Given the description of an element on the screen output the (x, y) to click on. 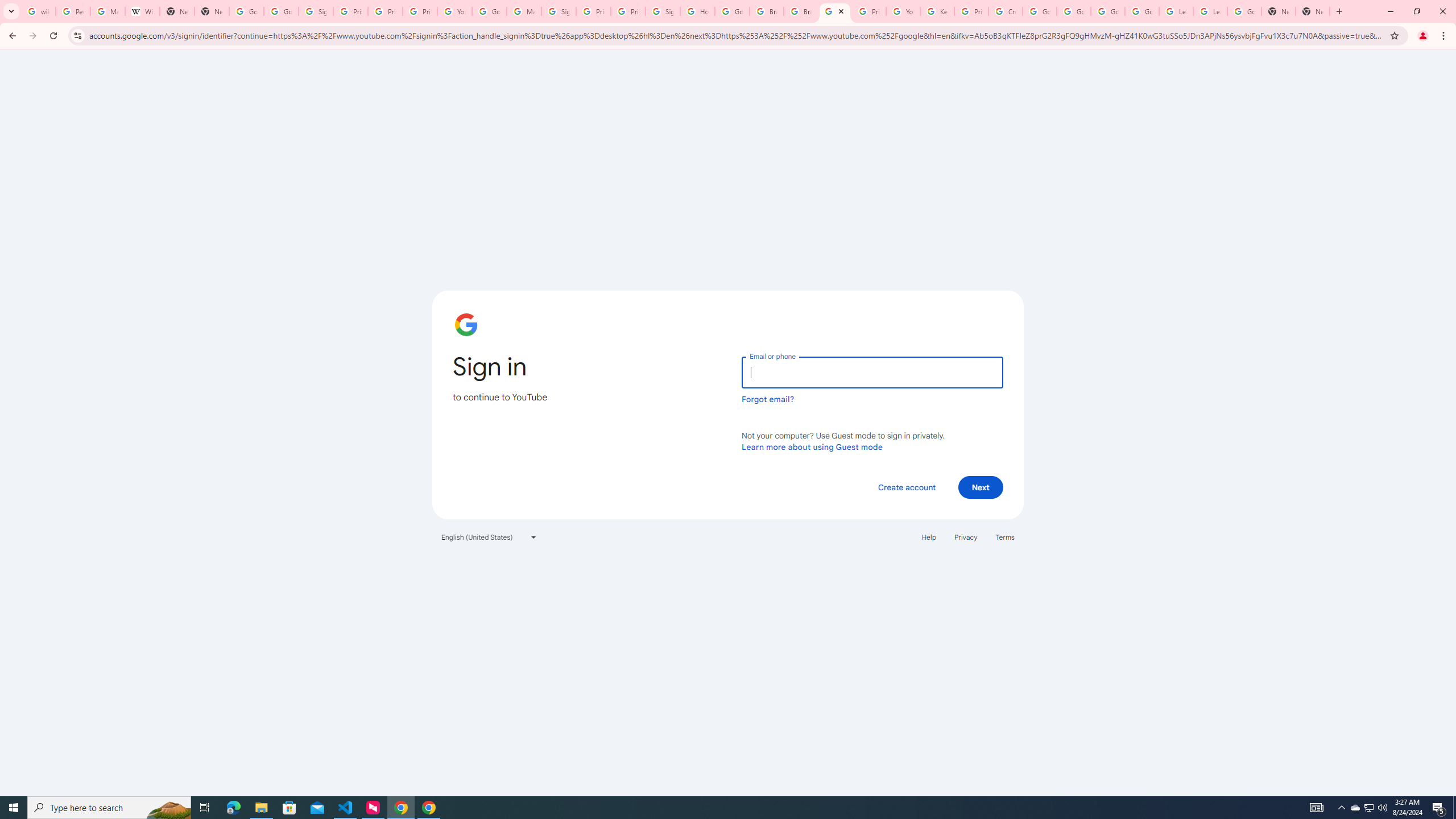
Personalization & Google Search results - Google Search Help (73, 11)
New Tab (1312, 11)
Google Account Help (489, 11)
Create your Google Account (1004, 11)
Learn more about using Guest mode (812, 446)
Forgot email? (767, 398)
YouTube (903, 11)
